Given the description of an element on the screen output the (x, y) to click on. 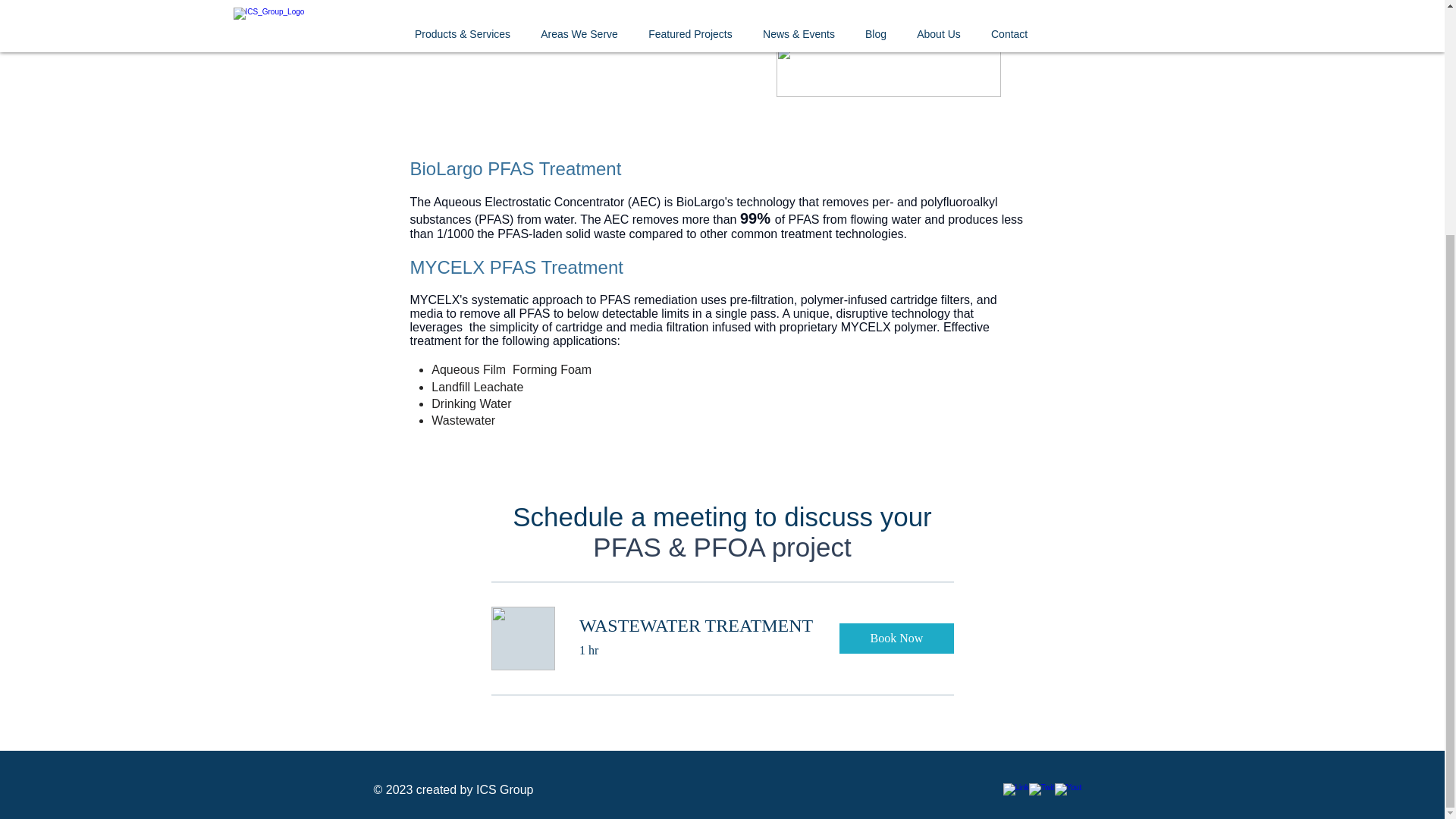
WASTEWATER TREATMENT (697, 626)
Book Now (895, 638)
MYCELX LOGO.png (888, 71)
